Given the description of an element on the screen output the (x, y) to click on. 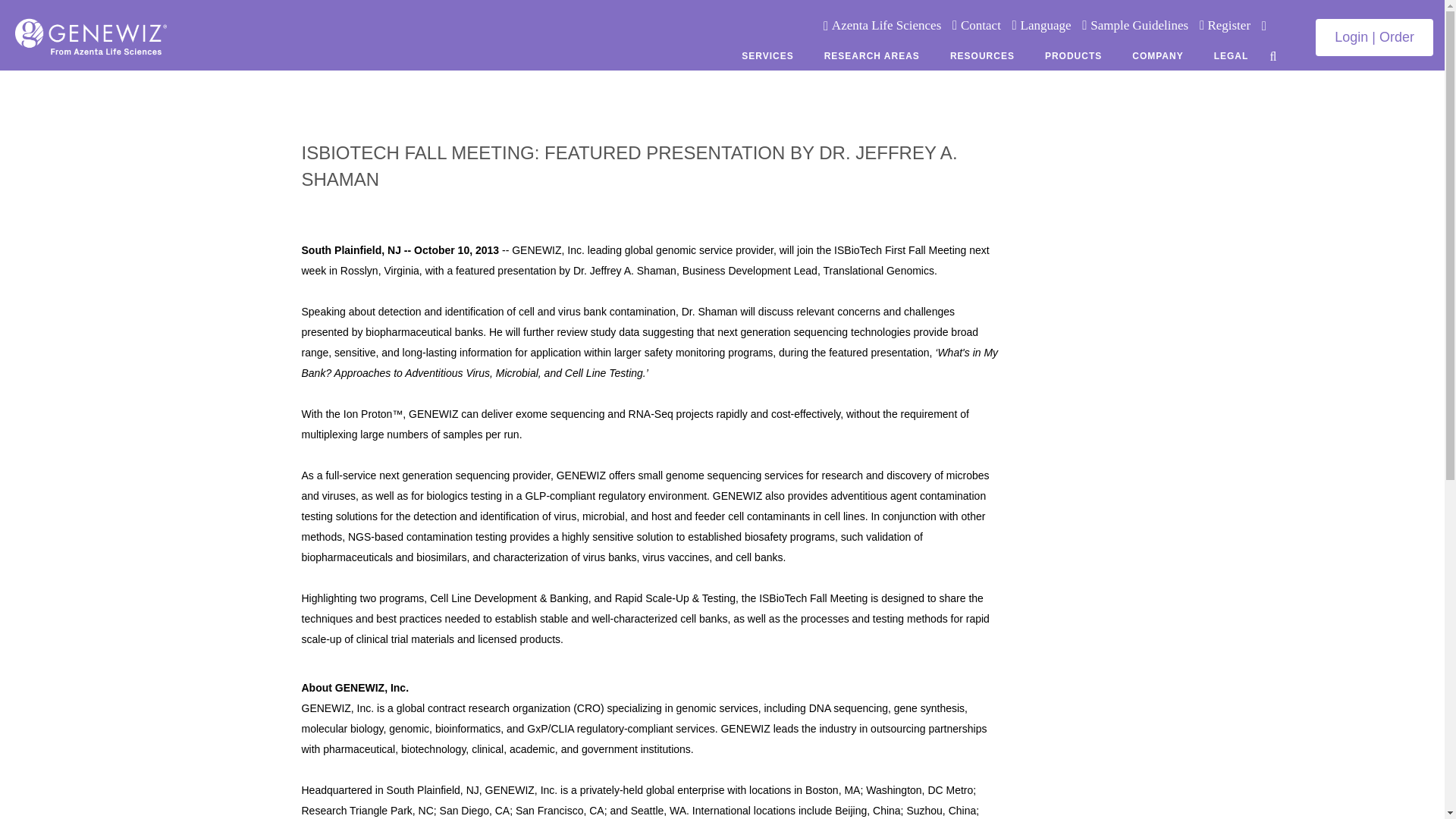
Sample Guidelines (1139, 25)
SERVICES (767, 55)
Azenta Life Sciences (885, 25)
Contact (980, 25)
Language (1045, 25)
Register (1227, 25)
